Given the description of an element on the screen output the (x, y) to click on. 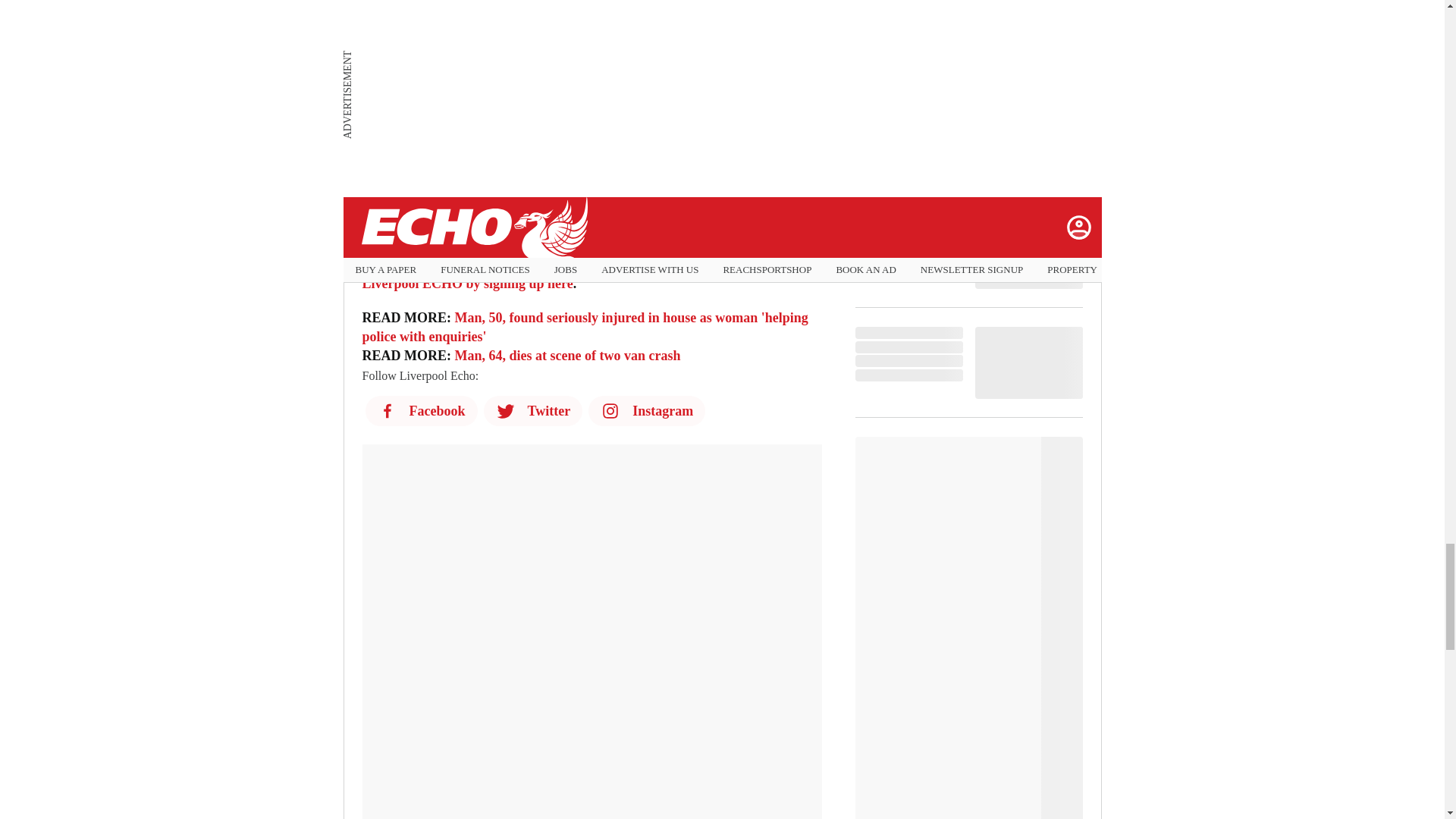
Facebook (421, 410)
Liverpool ECHO by signing up here (467, 283)
Twitter (533, 410)
Instagram (646, 410)
Man, 64, dies at scene of two van crash (567, 355)
